Given the description of an element on the screen output the (x, y) to click on. 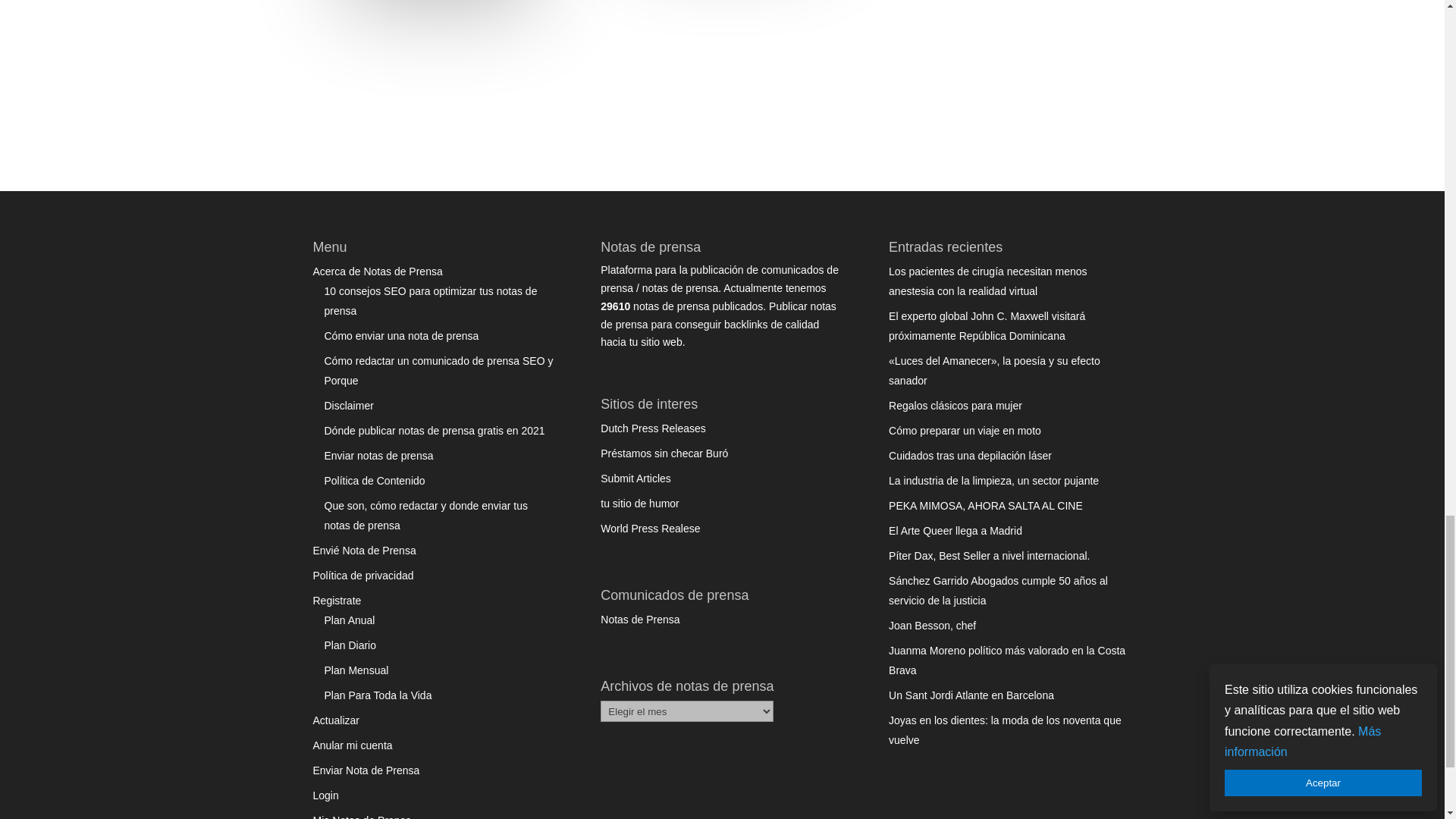
Submit English Press Releases (649, 528)
Article Submission Website (635, 478)
Comunicados de Prensa en Holandes (652, 428)
